Given the description of an element on the screen output the (x, y) to click on. 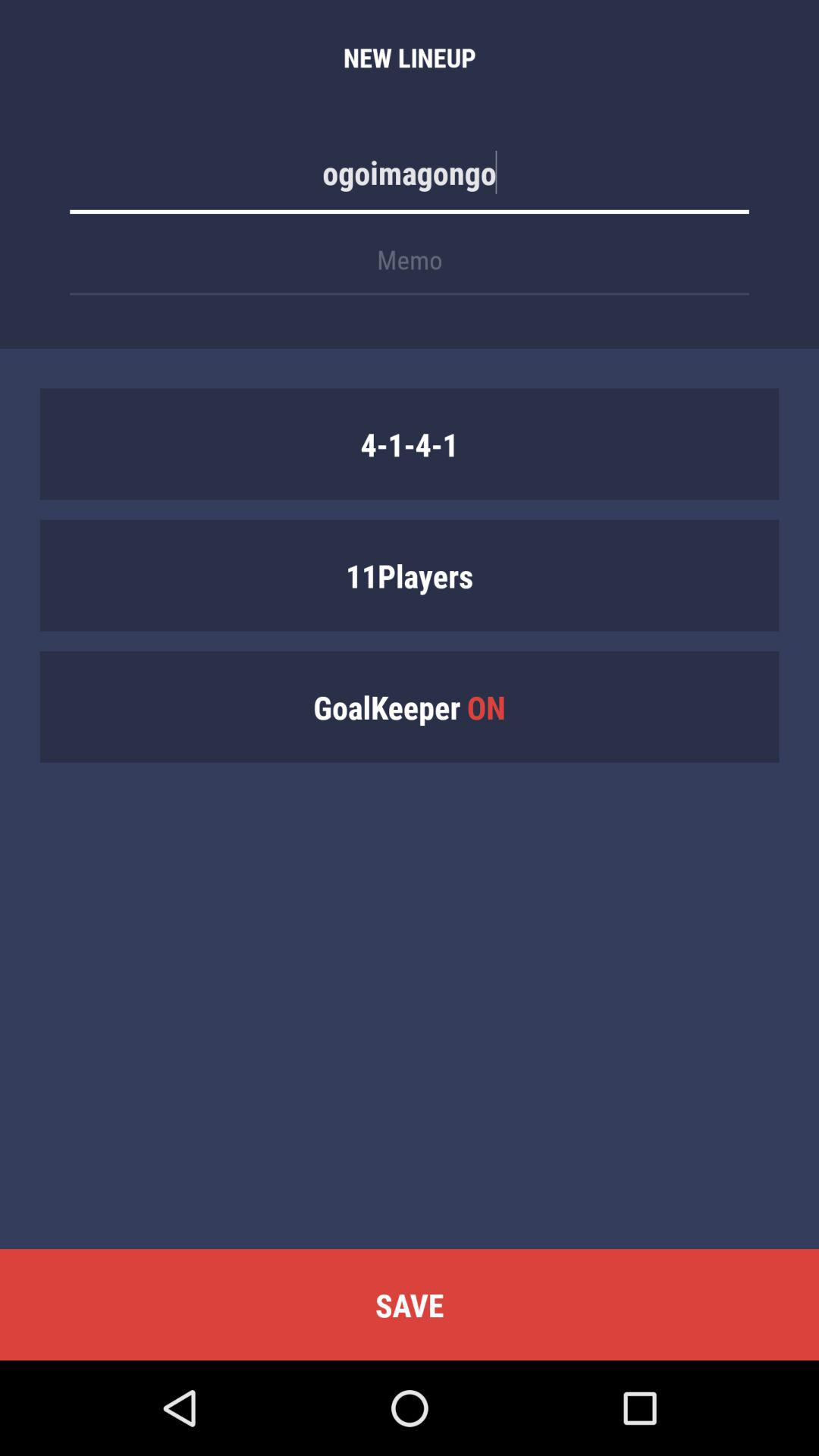
flip until the save (409, 1304)
